Given the description of an element on the screen output the (x, y) to click on. 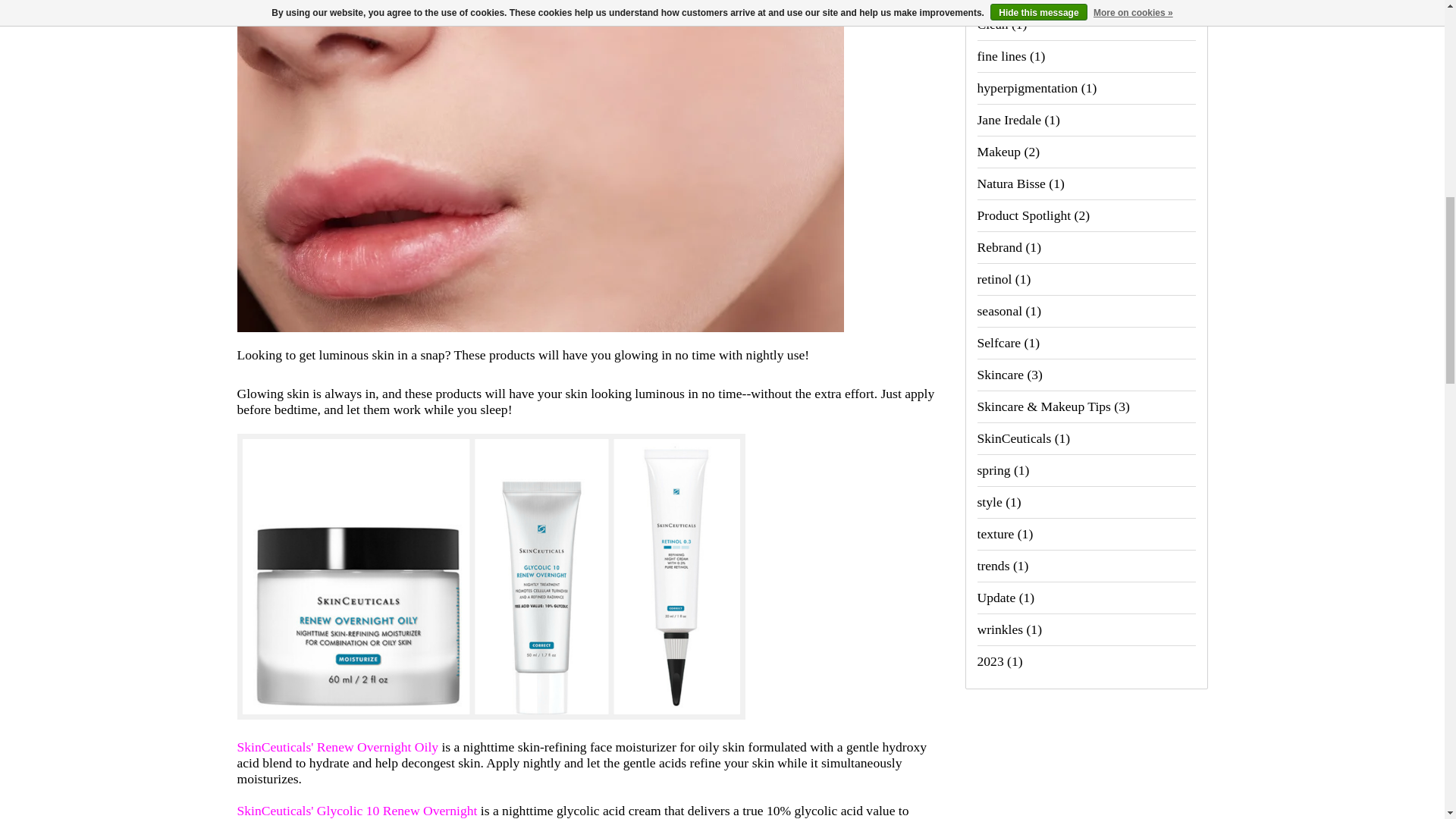
Glow Overnight (539, 338)
